Given the description of an element on the screen output the (x, y) to click on. 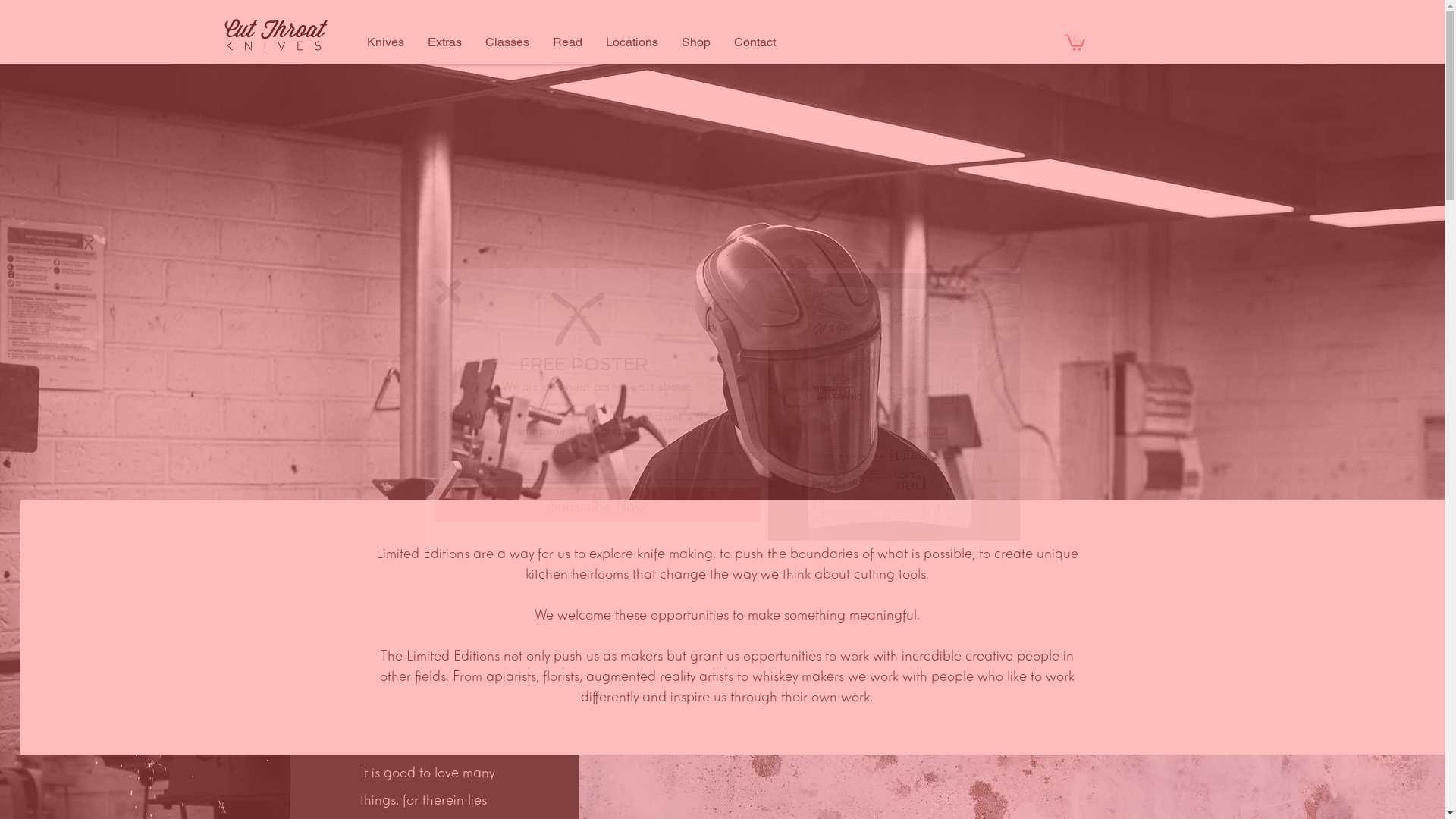
0 Element type: text (1074, 41)
Locations Element type: text (630, 42)
Classes Element type: text (506, 42)
Back to site Element type: hover (448, 291)
Shop Element type: text (694, 42)
